Given the description of an element on the screen output the (x, y) to click on. 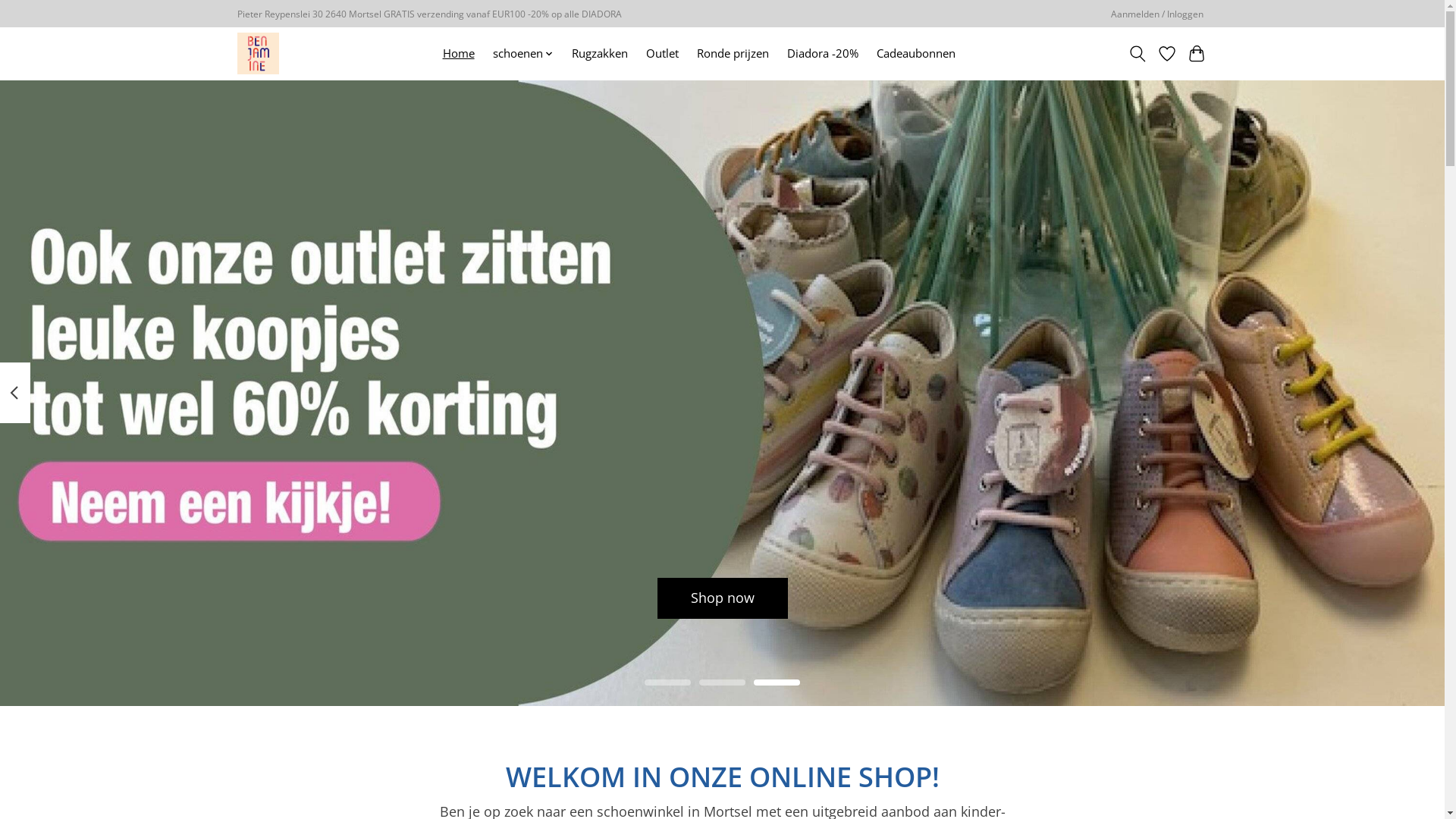
Rugzakken Element type: text (599, 53)
Ronde prijzen Element type: text (732, 53)
Diadora -20% Element type: text (822, 53)
Home Element type: text (457, 53)
schoenen Element type: text (522, 53)
Aanmelden / Inloggen Element type: text (1156, 13)
Benjamine Element type: hover (257, 53)
Shop now Element type: text (721, 597)
Outlet Element type: text (662, 53)
Cadeaubonnen Element type: text (915, 53)
